Given the description of an element on the screen output the (x, y) to click on. 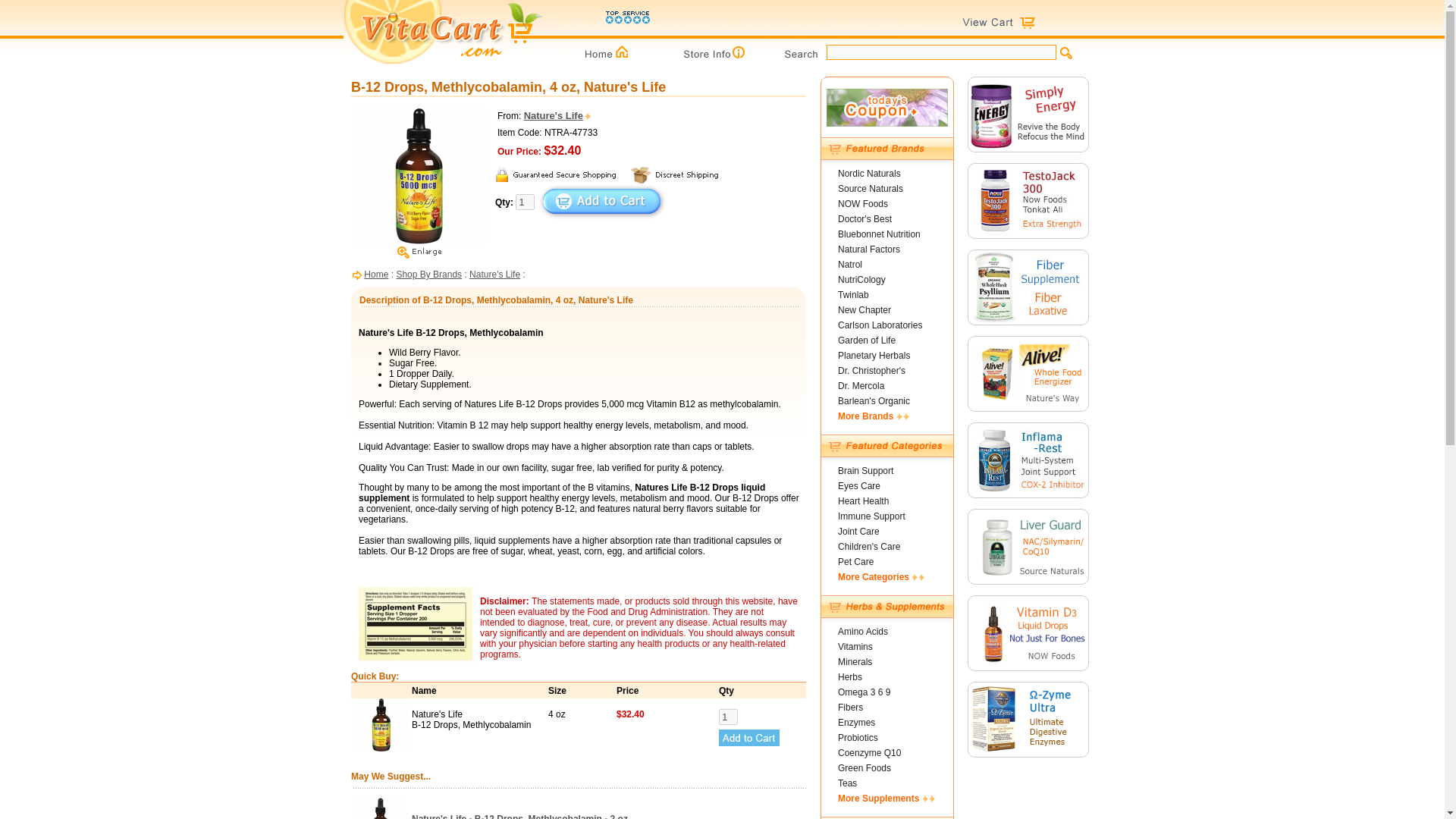
Nordic Naturals (869, 173)
Shop By Brands (428, 274)
NutriCology (861, 279)
Twinlab (853, 294)
Nature's Life (558, 115)
Natrol (849, 264)
Dr. Christopher's (871, 370)
Home (376, 274)
NOW Foods (863, 204)
More Brands (874, 416)
Carlson Laboratories (879, 325)
Source Naturals (870, 188)
New Chapter (864, 309)
Doctor's Best (864, 218)
Nature's Life (493, 274)
